Given the description of an element on the screen output the (x, y) to click on. 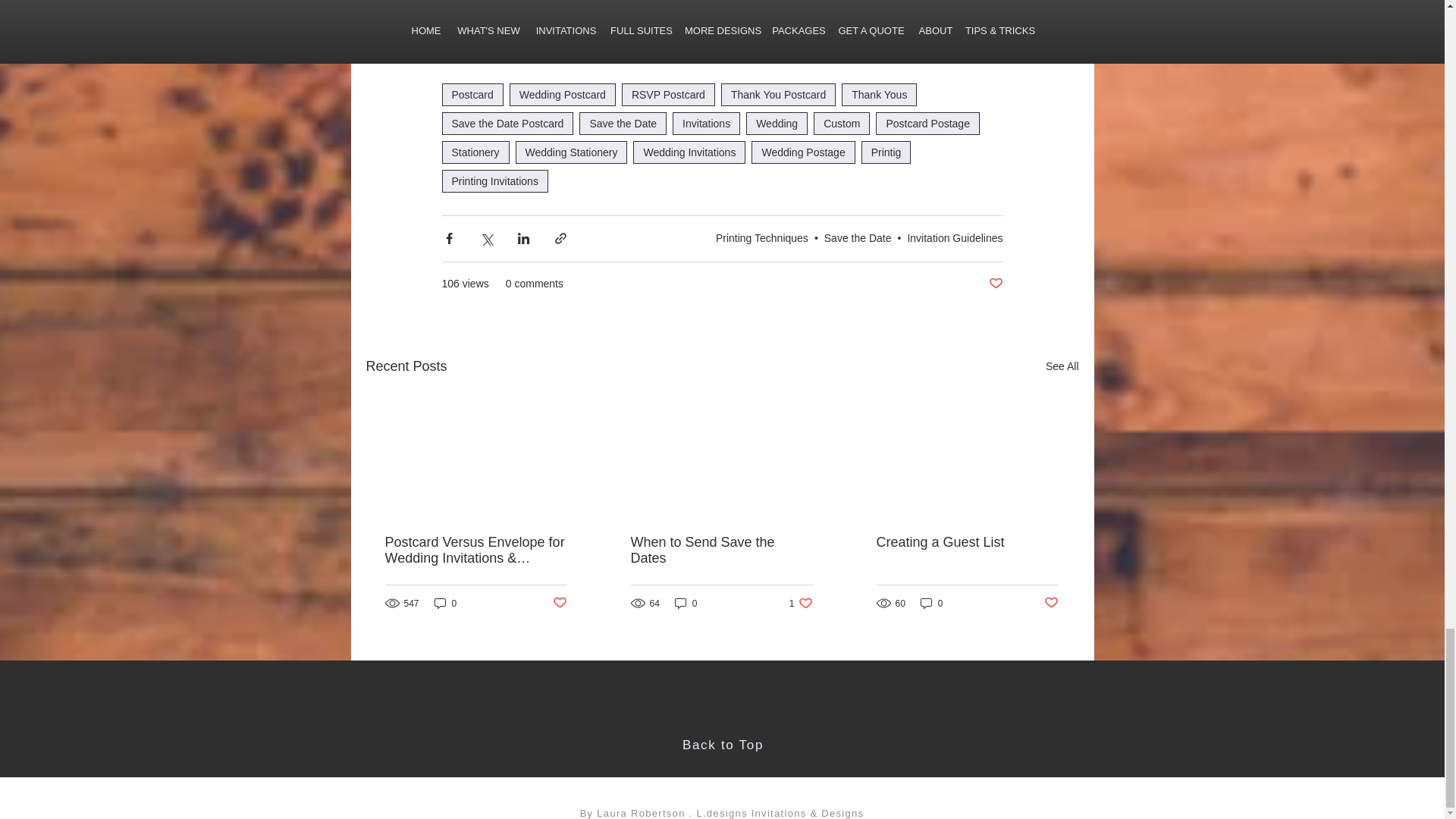
RSVP Postcard (667, 94)
Postcard Postage (927, 123)
Printig (886, 151)
Wedding Stationery (571, 151)
Postcard (471, 94)
Invitations (705, 123)
Wedding (776, 123)
Thank Yous (879, 94)
Thank You Postcard (777, 94)
Stationery (474, 151)
